Given the description of an element on the screen output the (x, y) to click on. 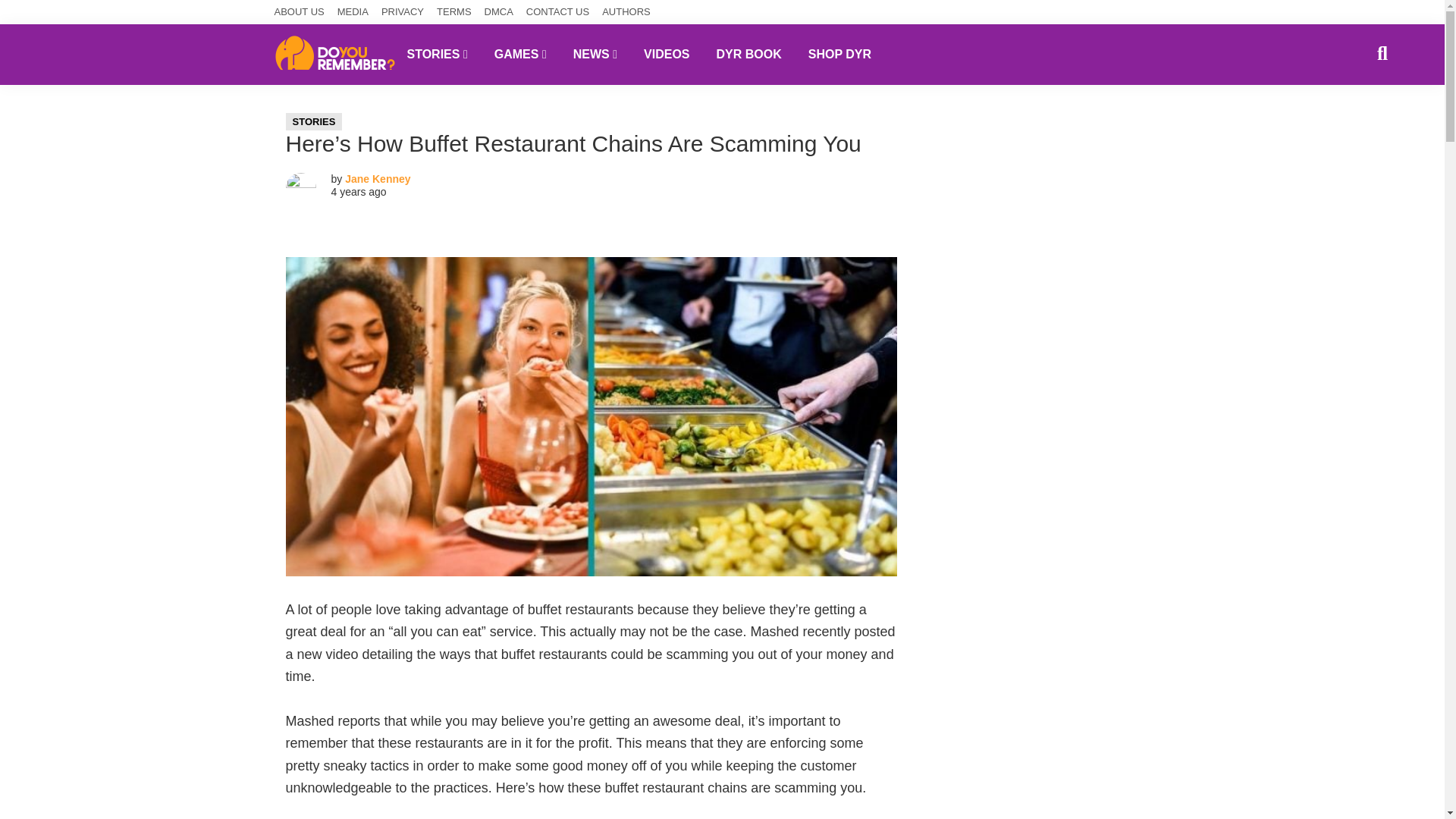
SHOP DYR (839, 54)
GAMES (520, 54)
PRIVACY (402, 12)
MEDIA (352, 12)
AUTHORS (626, 12)
TERMS (453, 12)
CONTACT US (557, 12)
VIDEOS (665, 54)
Jane Kenney (377, 178)
DMCA (498, 12)
STORIES (437, 54)
STORIES (314, 121)
ABOUT US (299, 12)
DYR BOOK (748, 54)
